Given the description of an element on the screen output the (x, y) to click on. 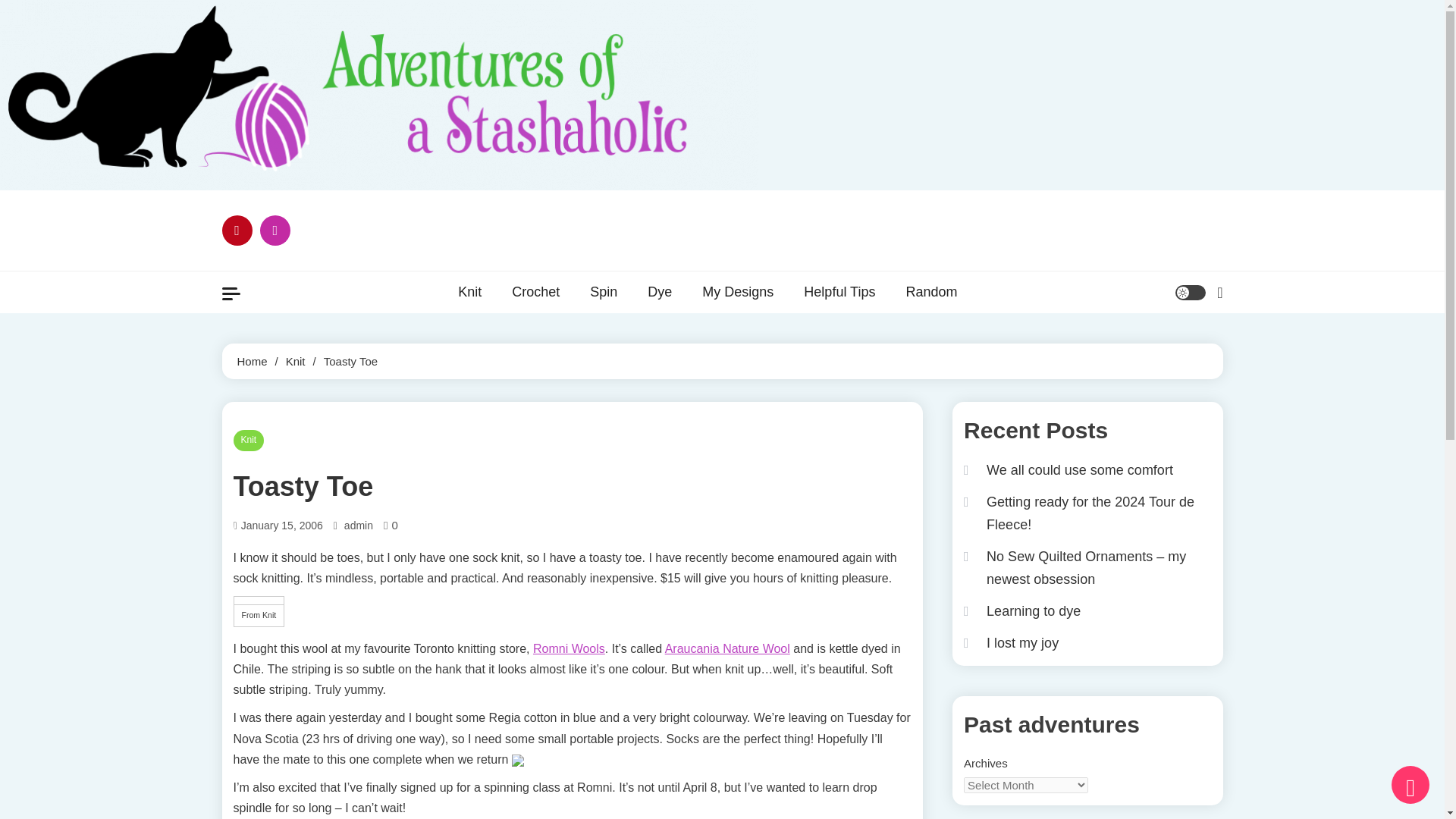
Spin (603, 291)
Search (1180, 349)
Helpful Tips (839, 291)
site mode button (1189, 292)
admin (357, 525)
January 15, 2006 (282, 525)
Dye (659, 291)
Random (930, 291)
Knit (248, 440)
Araucania Nature Wool (727, 648)
Crochet (535, 291)
Home (250, 360)
Knit (469, 291)
My Designs (738, 291)
Knit (295, 360)
